Given the description of an element on the screen output the (x, y) to click on. 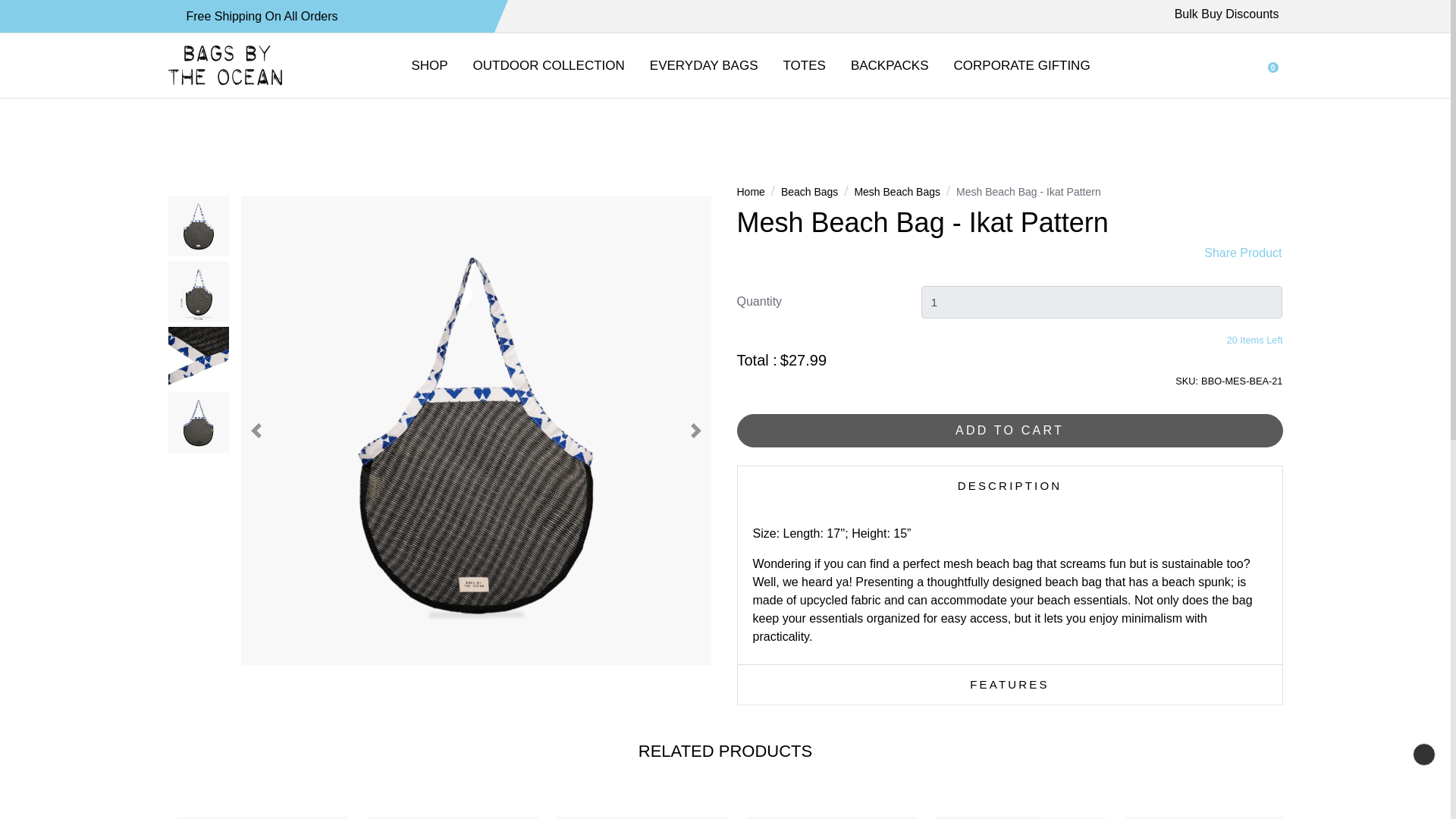
Mesh Beach Bag - Chevron Wave (831, 817)
Mesh Beach Bag - Iris Woof (1021, 817)
Login (1230, 65)
Free Shipping On All Orders (262, 16)
Mesh Beach Bag - Gray (263, 817)
Bulk Buy Discounts (1227, 16)
Mesh Beach Bag - Mutt Paradise (452, 817)
Mesh Beach Bag - Pastel Green (642, 817)
1 (1101, 302)
SHOP (429, 65)
Mesh Beach Bag - Orange (1211, 817)
